Given the description of an element on the screen output the (x, y) to click on. 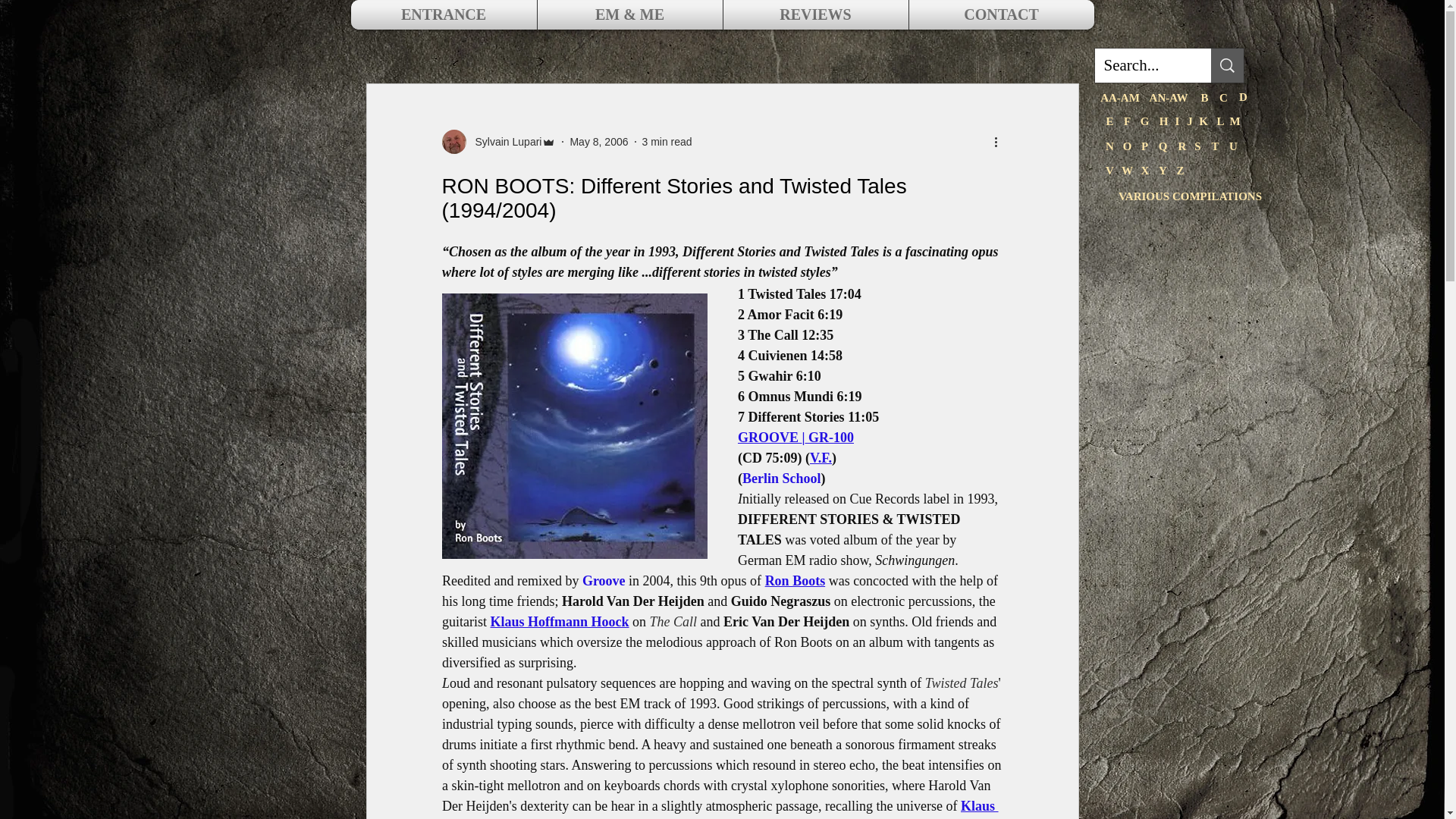
3 min read (666, 141)
Sylvain Lupari (503, 141)
Groove (602, 580)
ENTRANCE (443, 14)
REVIEWS (815, 14)
CONTACT (1001, 14)
Klaus Hoffmann Hoock (558, 621)
GR-100 (830, 437)
V.F. (820, 458)
Ron Boots (794, 580)
